Given the description of an element on the screen output the (x, y) to click on. 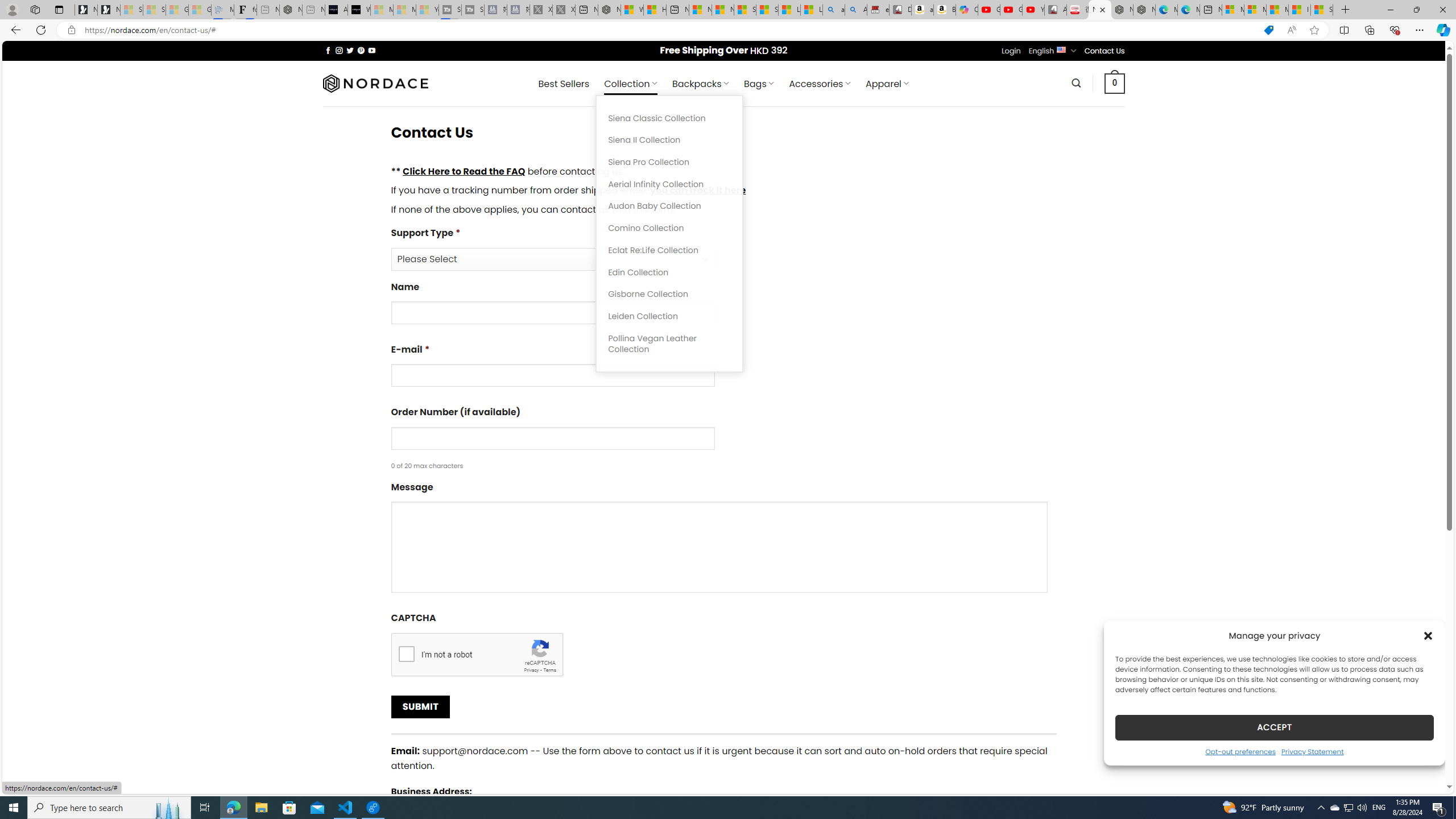
you can track it here (697, 190)
AI Voice Changer for PC and Mac - Voice.ai (336, 9)
Nordace - Contact Us (1099, 9)
Copilot (966, 9)
Edin Collection (669, 272)
